Given the description of an element on the screen output the (x, y) to click on. 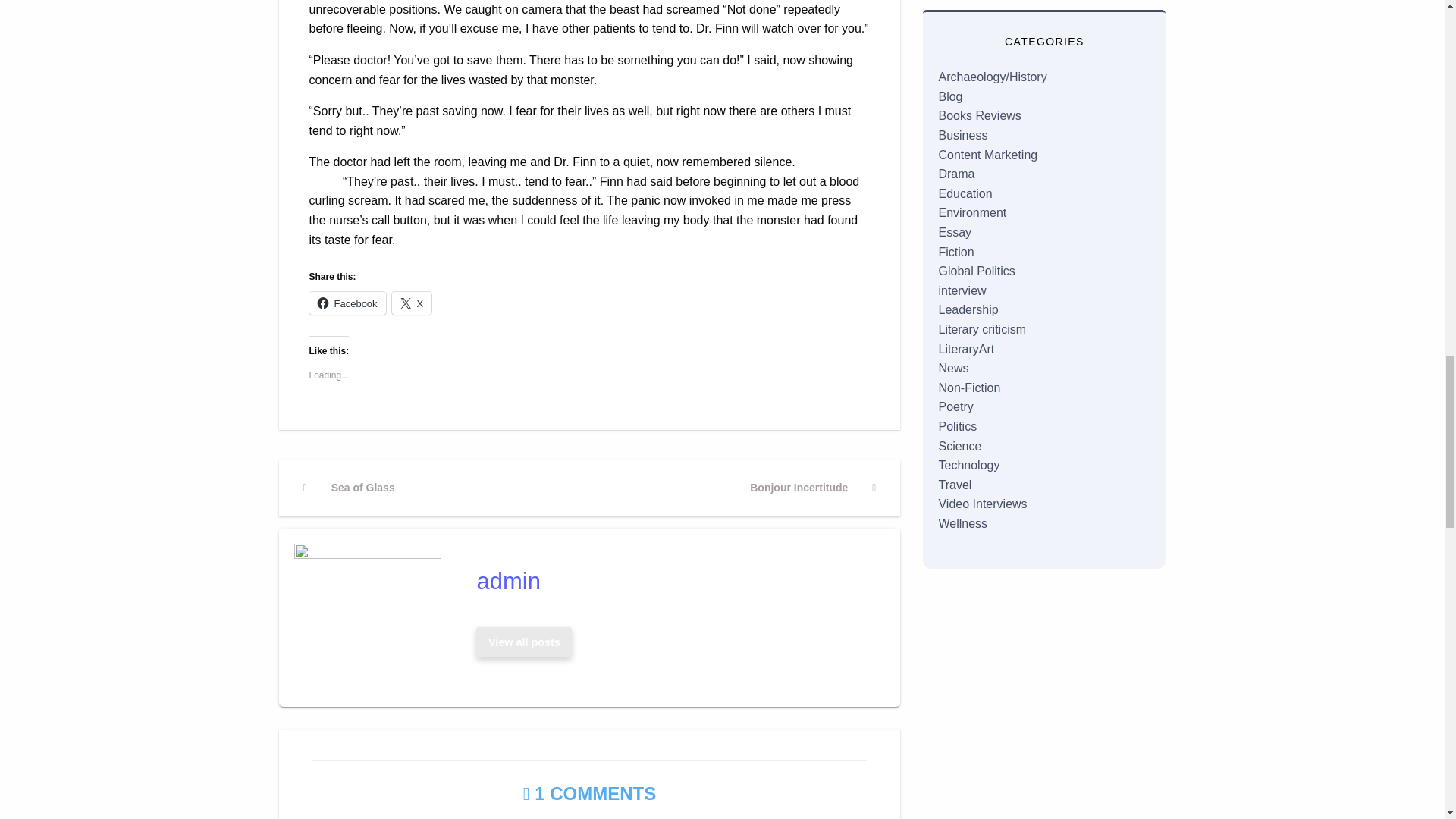
admin (812, 488)
admin (523, 642)
Click to share on Facebook (674, 581)
Click to share on X (346, 302)
Facebook (411, 302)
admin (346, 302)
View all posts (674, 581)
View all posts (524, 642)
X (523, 642)
